Given the description of an element on the screen output the (x, y) to click on. 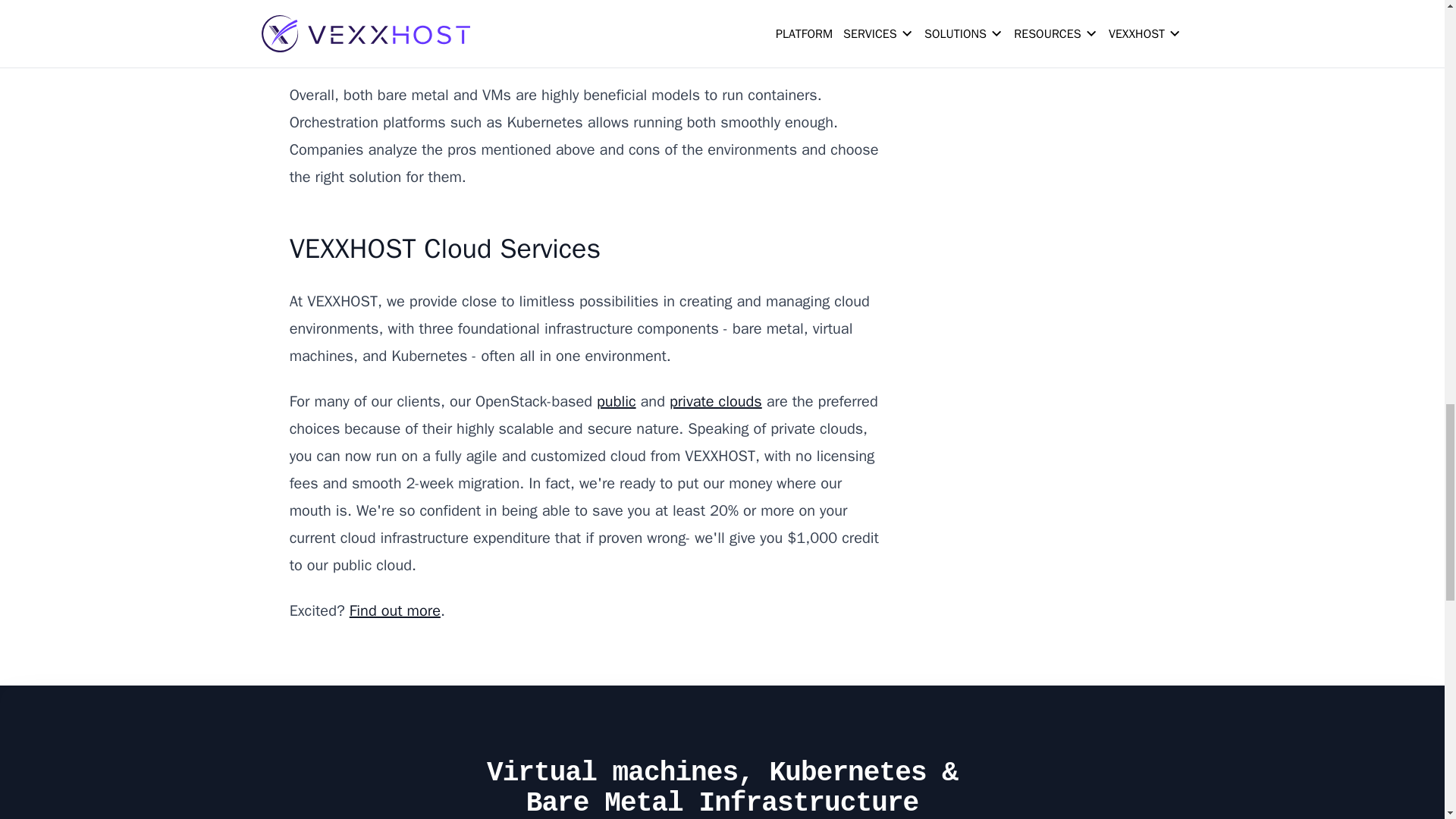
private clouds (715, 401)
public (616, 401)
Find out more (395, 610)
